Given the description of an element on the screen output the (x, y) to click on. 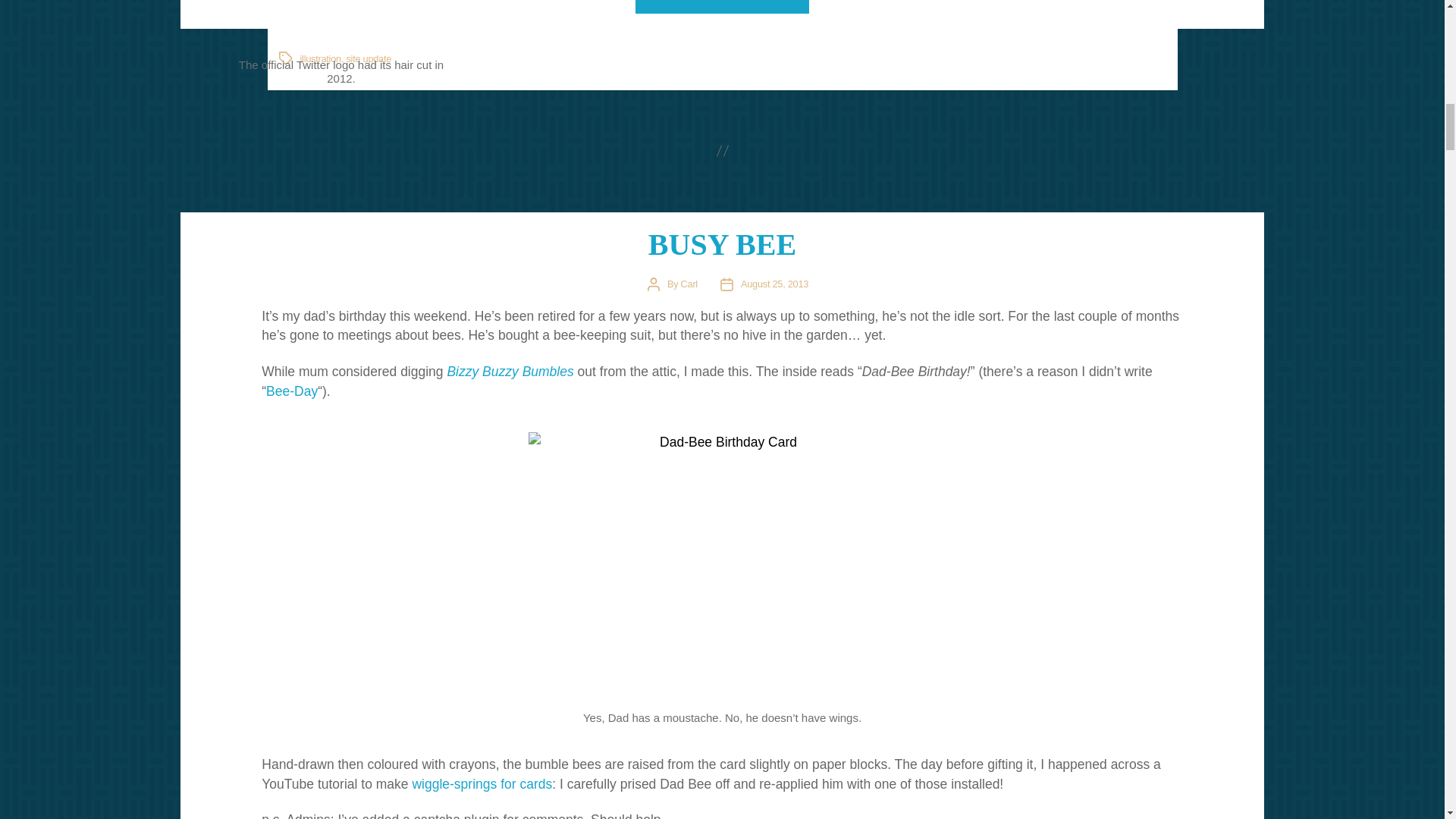
Bizzy Buzzy Bumbles (509, 371)
Carl (689, 283)
August 25, 2013 (774, 283)
site update (368, 58)
Bizzy Buzzy Bumbles Advert - YouTube (509, 371)
Bidet - Wikipedia, the free encylopedia (291, 391)
BUSY BEE (721, 244)
illustration (319, 58)
Tutorial: Wiggle-spring for Cards - Cricut idea - YouTube (481, 783)
